Given the description of an element on the screen output the (x, y) to click on. 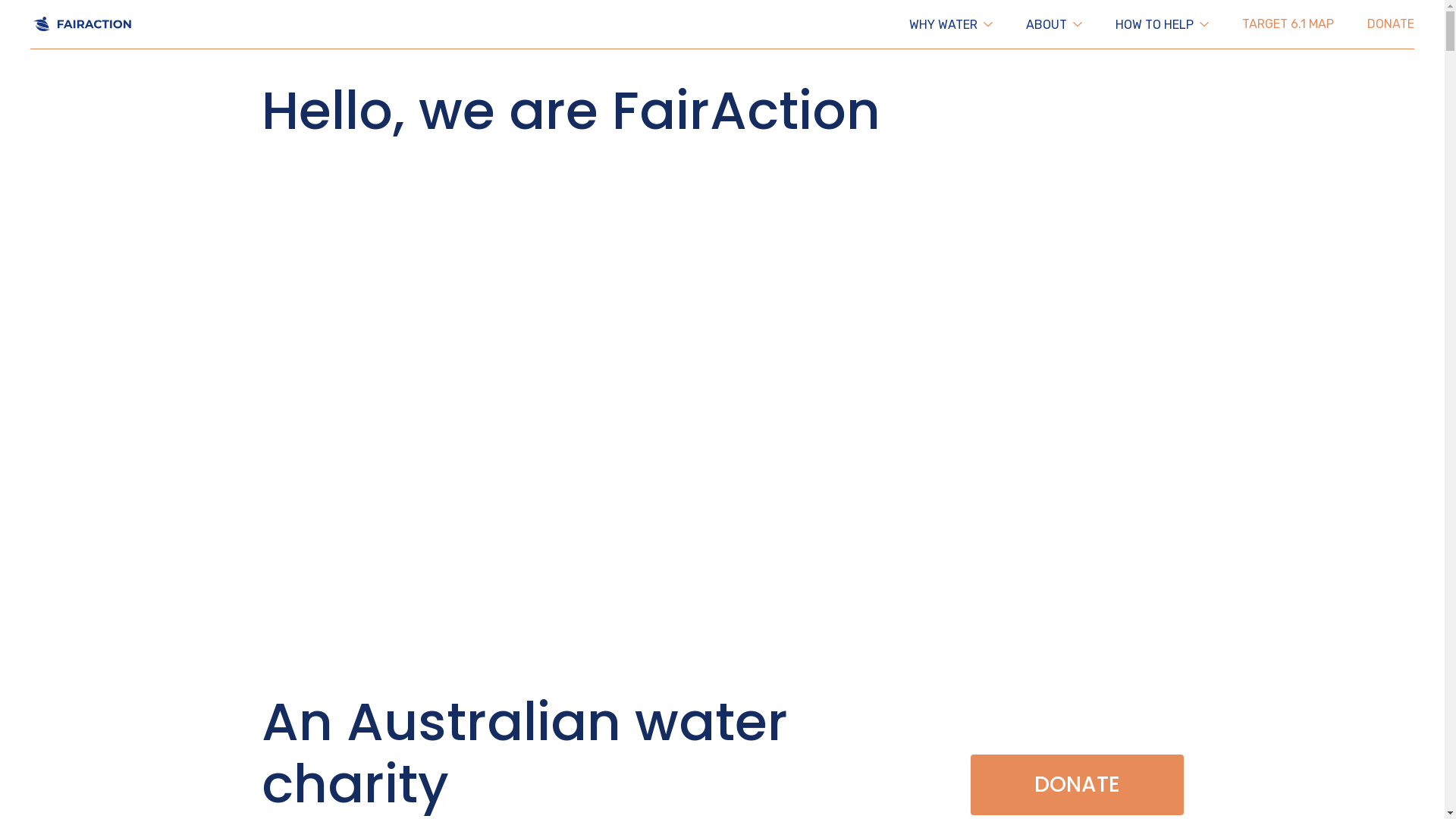
DONATE Element type: text (1390, 24)
DONATE Element type: text (1076, 784)
HOW TO HELP Element type: text (1161, 23)
WHY WATER Element type: text (950, 23)
TARGET 6.1 MAP Element type: text (1287, 24)
ABOUT Element type: text (1054, 23)
